Given the description of an element on the screen output the (x, y) to click on. 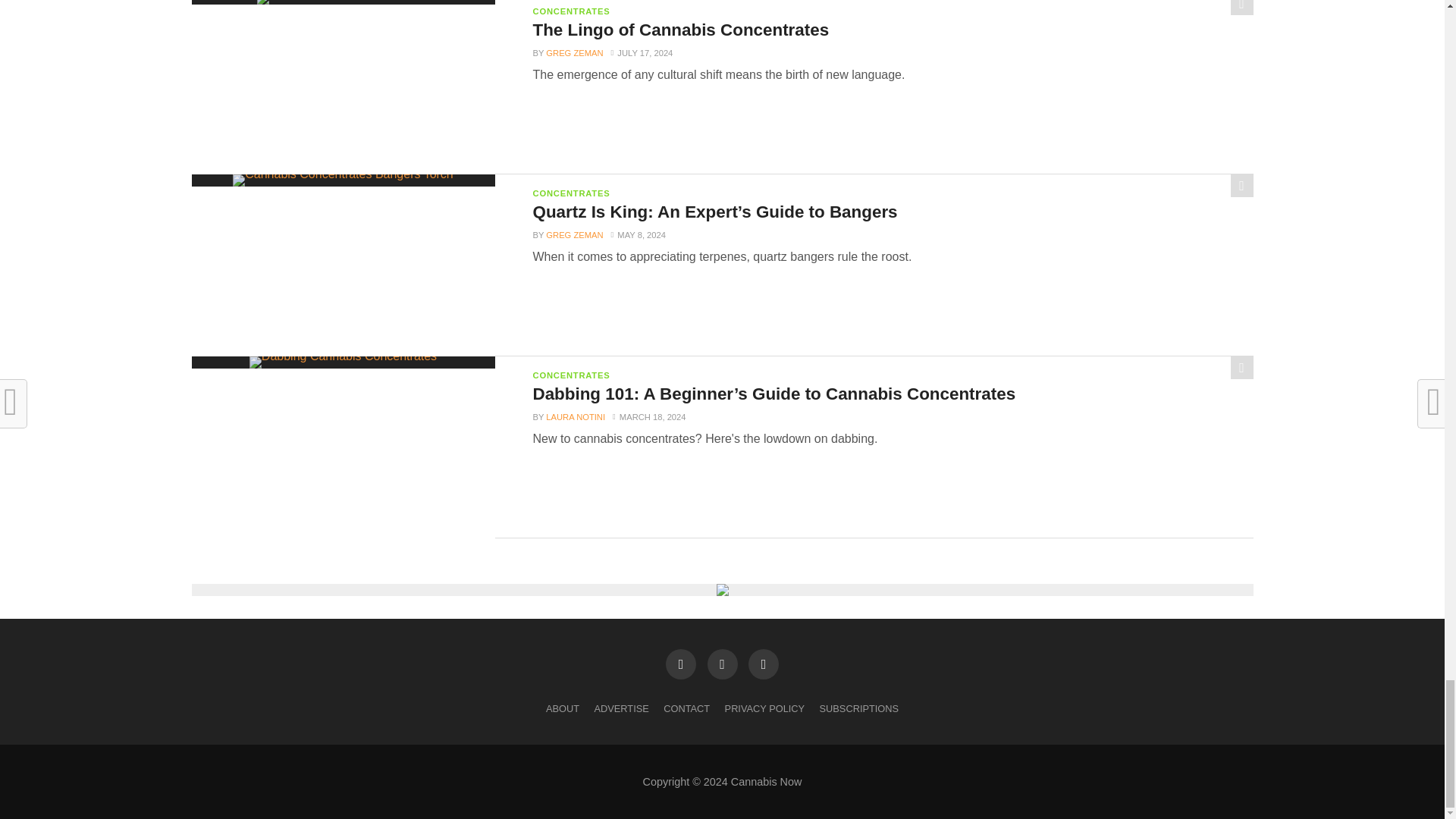
Posts by Greg Zeman (574, 52)
